Given the description of an element on the screen output the (x, y) to click on. 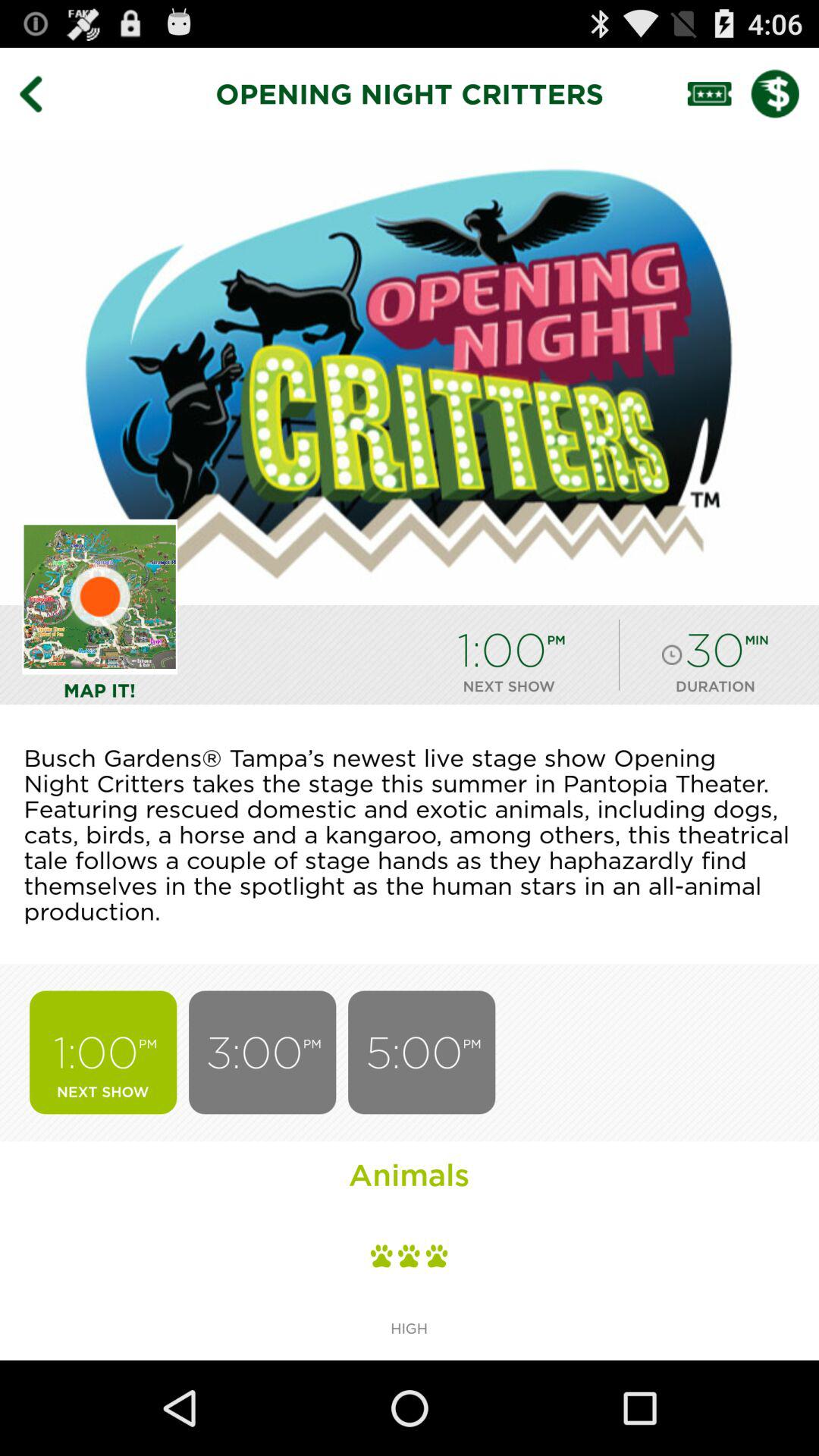
go to previous (41, 93)
